Given the description of an element on the screen output the (x, y) to click on. 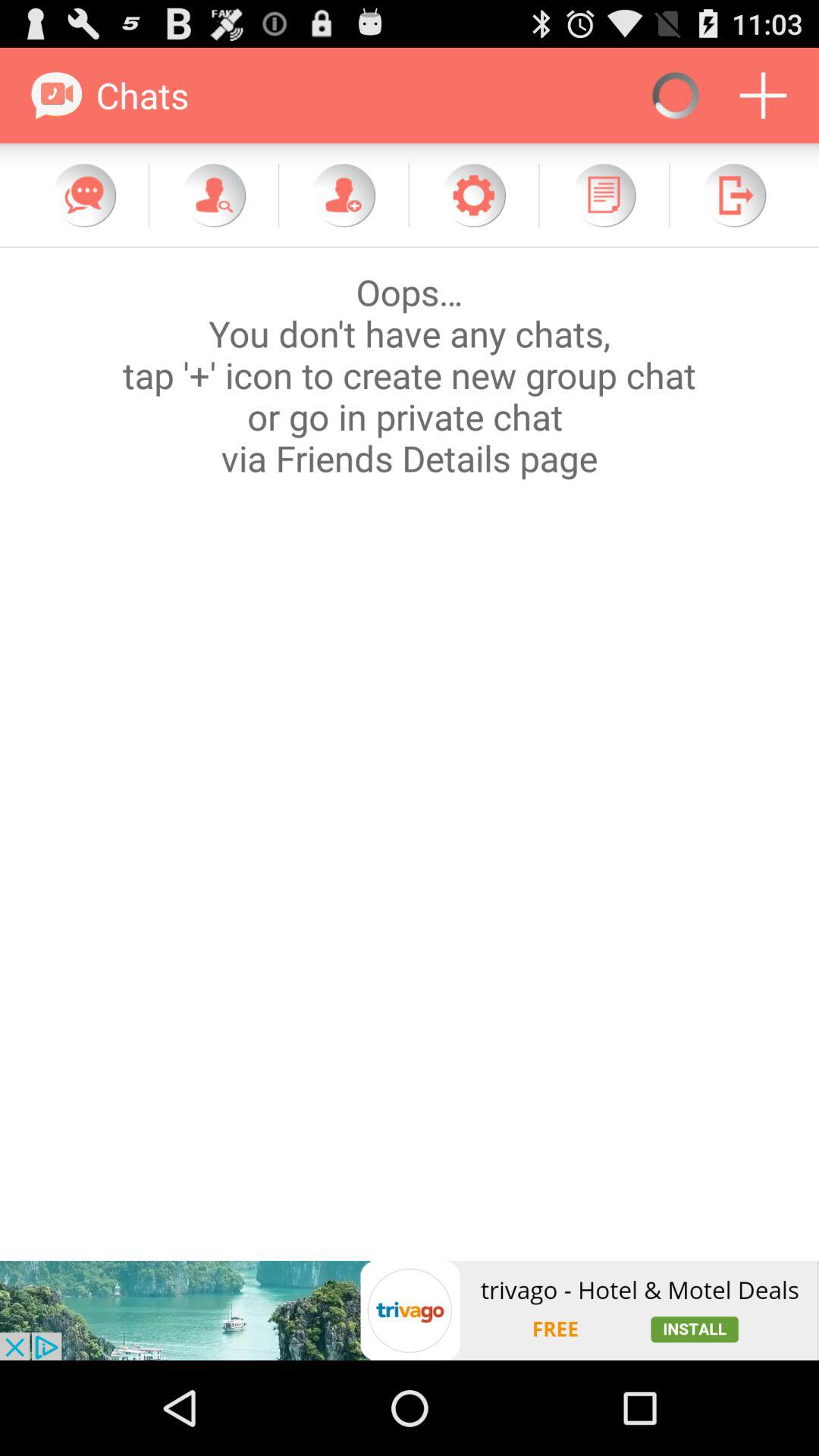
check for new messages (84, 194)
